Given the description of an element on the screen output the (x, y) to click on. 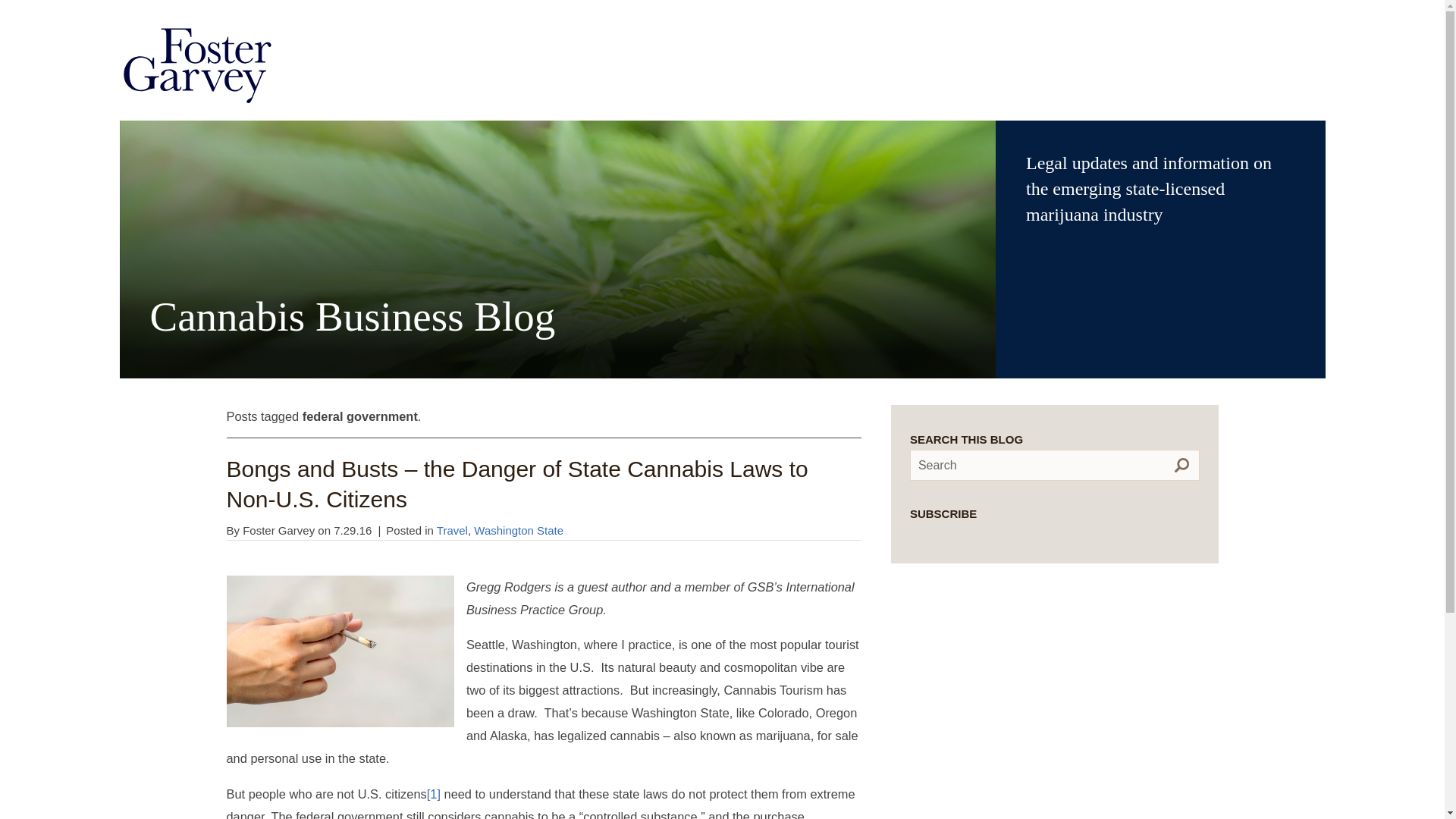
Washington State (518, 530)
Travel (451, 530)
